Given the description of an element on the screen output the (x, y) to click on. 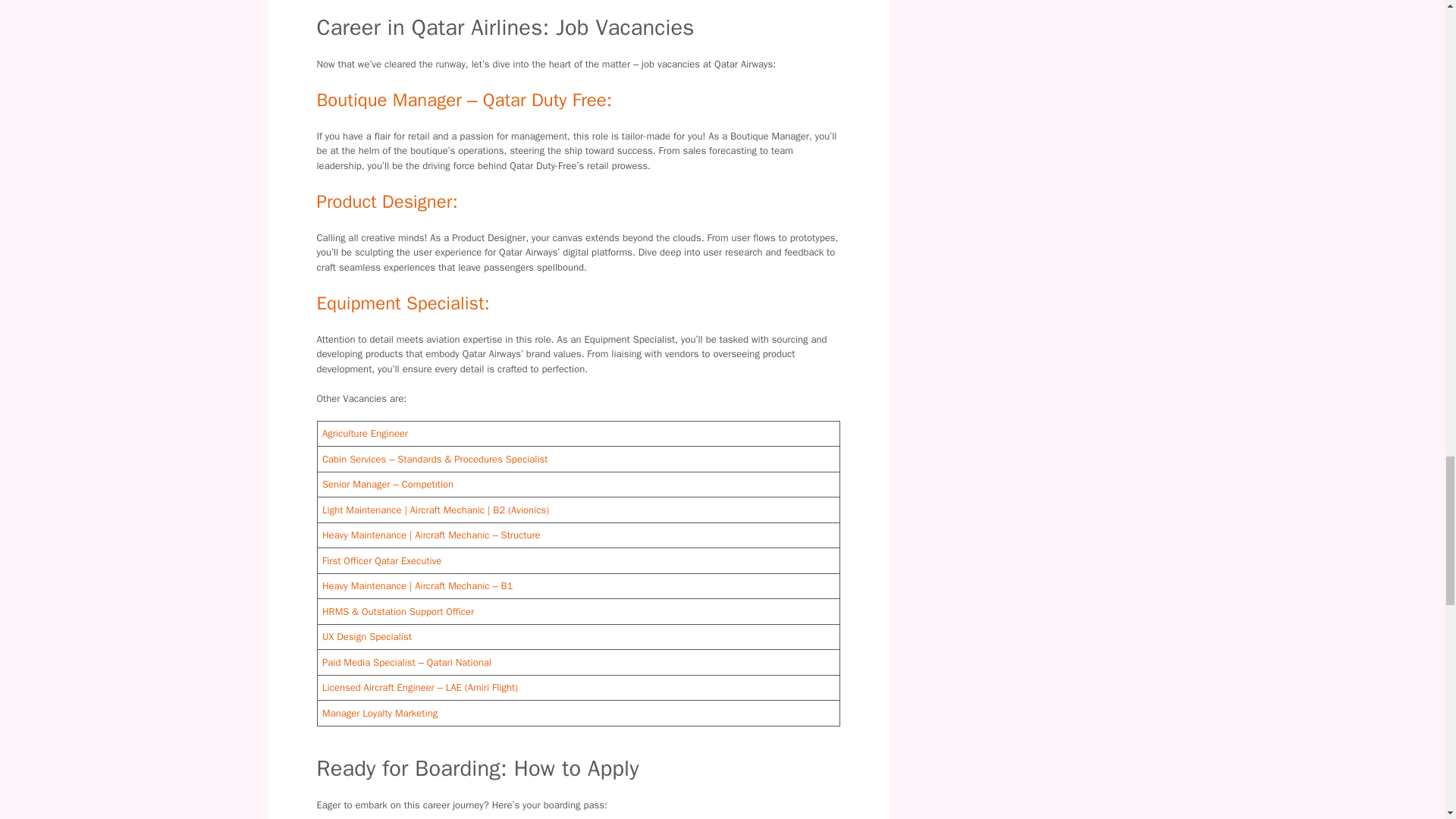
Agriculture Engineer (364, 432)
First Officer Qatar Executive (381, 560)
Equipment Specialist: (403, 302)
Product Designer: (387, 201)
